Given the description of an element on the screen output the (x, y) to click on. 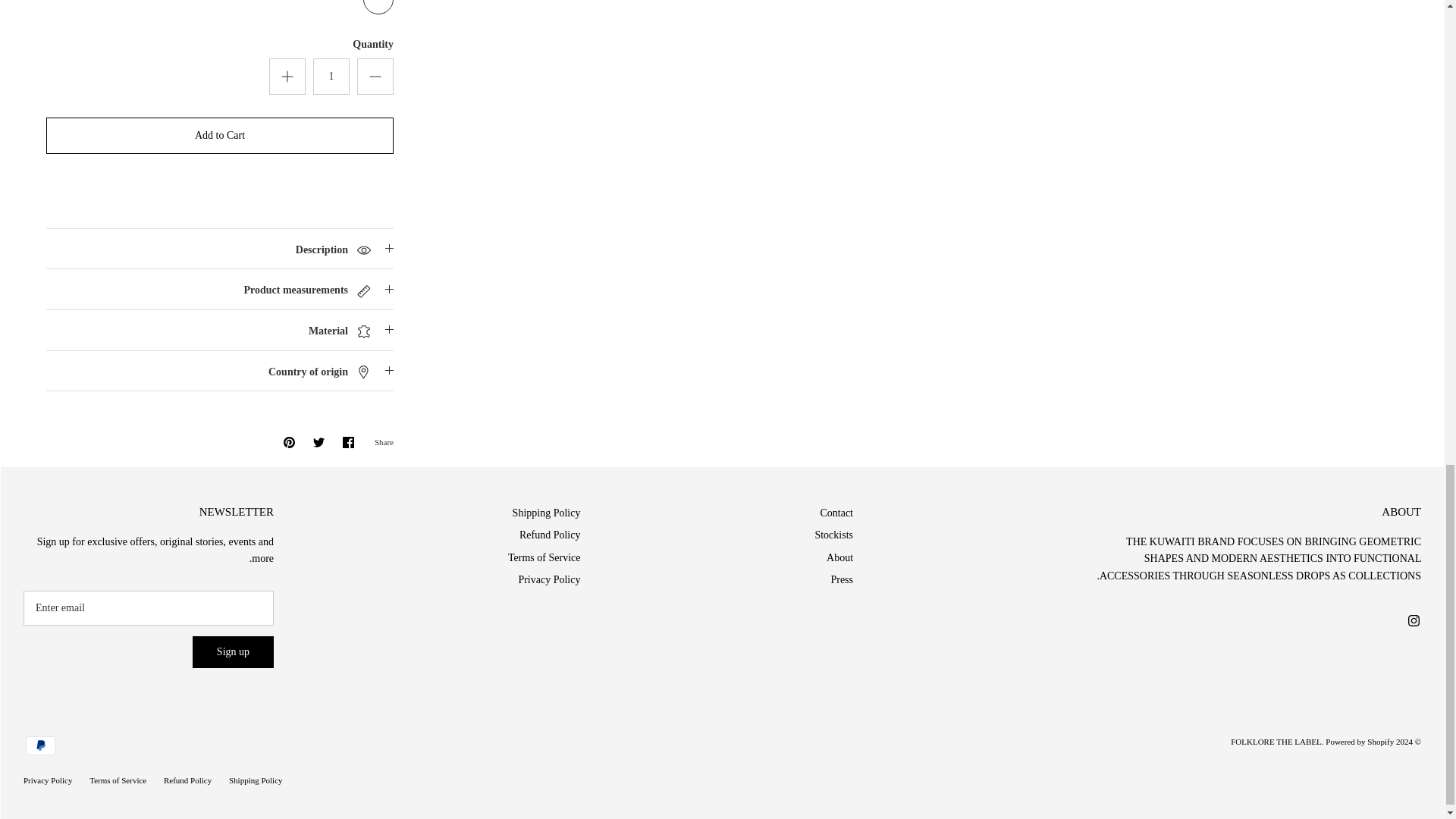
PayPal (40, 745)
Instagram (1413, 620)
